Given the description of an element on the screen output the (x, y) to click on. 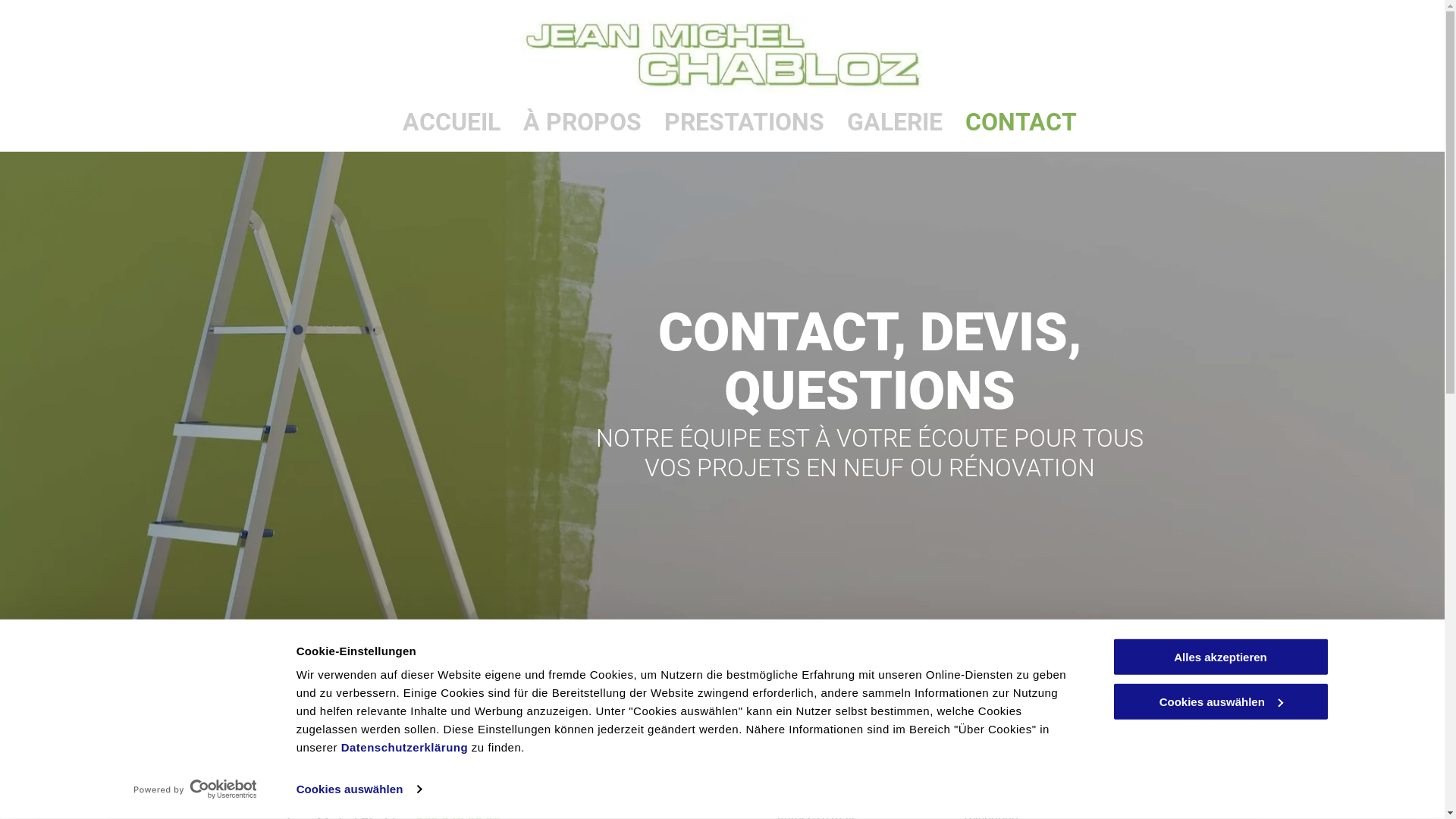
GALERIE Element type: text (894, 122)
ACCUEIL Element type: text (451, 122)
CONTACT Element type: text (1020, 122)
Alles akzeptieren Element type: text (1219, 656)
PRESTATIONS Element type: text (744, 122)
